Given the description of an element on the screen output the (x, y) to click on. 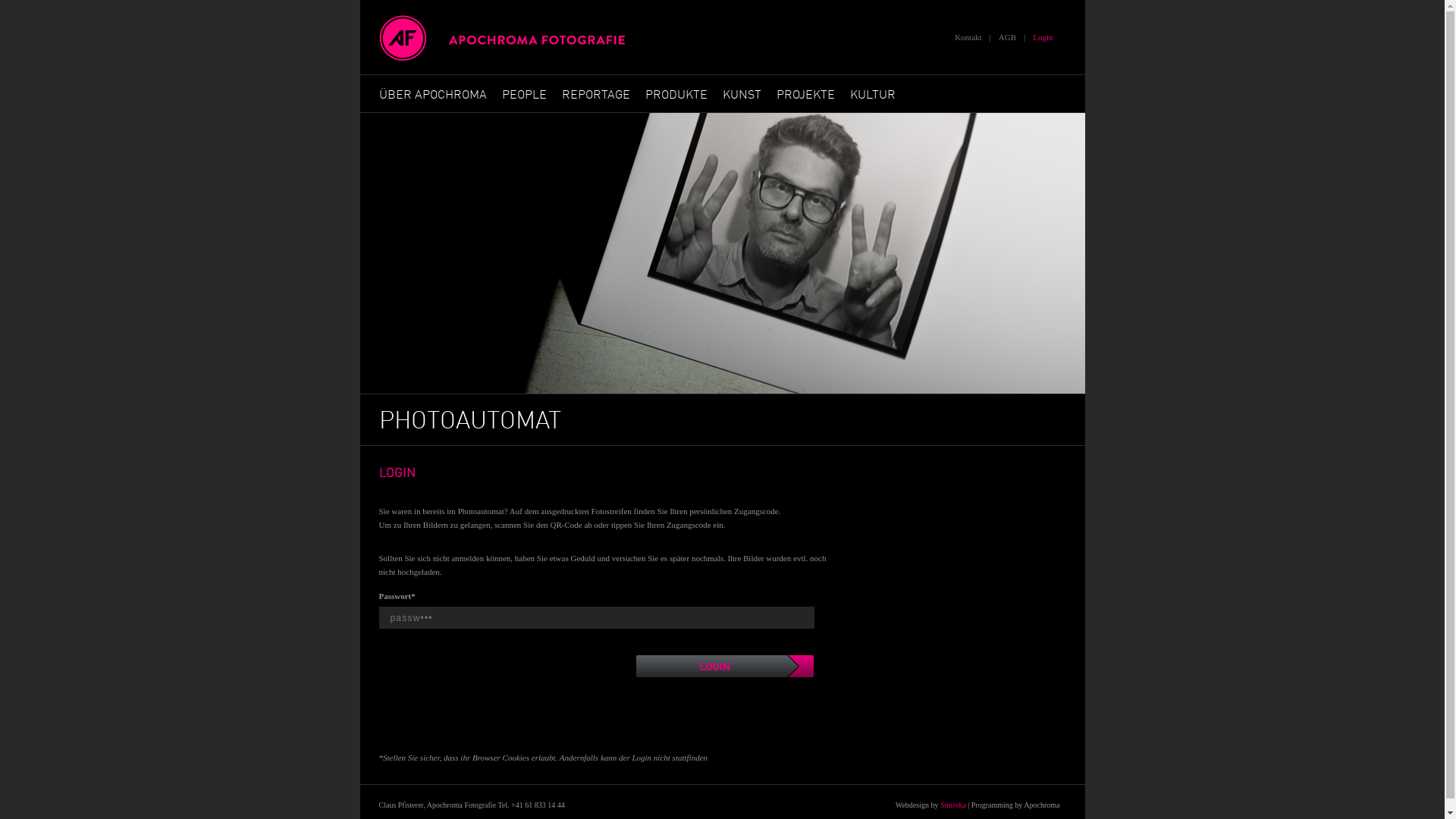
KULTUR Element type: text (871, 95)
Kontakt Element type: text (967, 36)
REPORTAGE Element type: text (595, 95)
Smiroka Element type: text (953, 804)
AGB Element type: text (1007, 36)
PRODUKTE Element type: text (675, 95)
KUNST Element type: text (740, 95)
PEOPLE Element type: text (524, 95)
PROJEKTE Element type: text (805, 95)
